Given the description of an element on the screen output the (x, y) to click on. 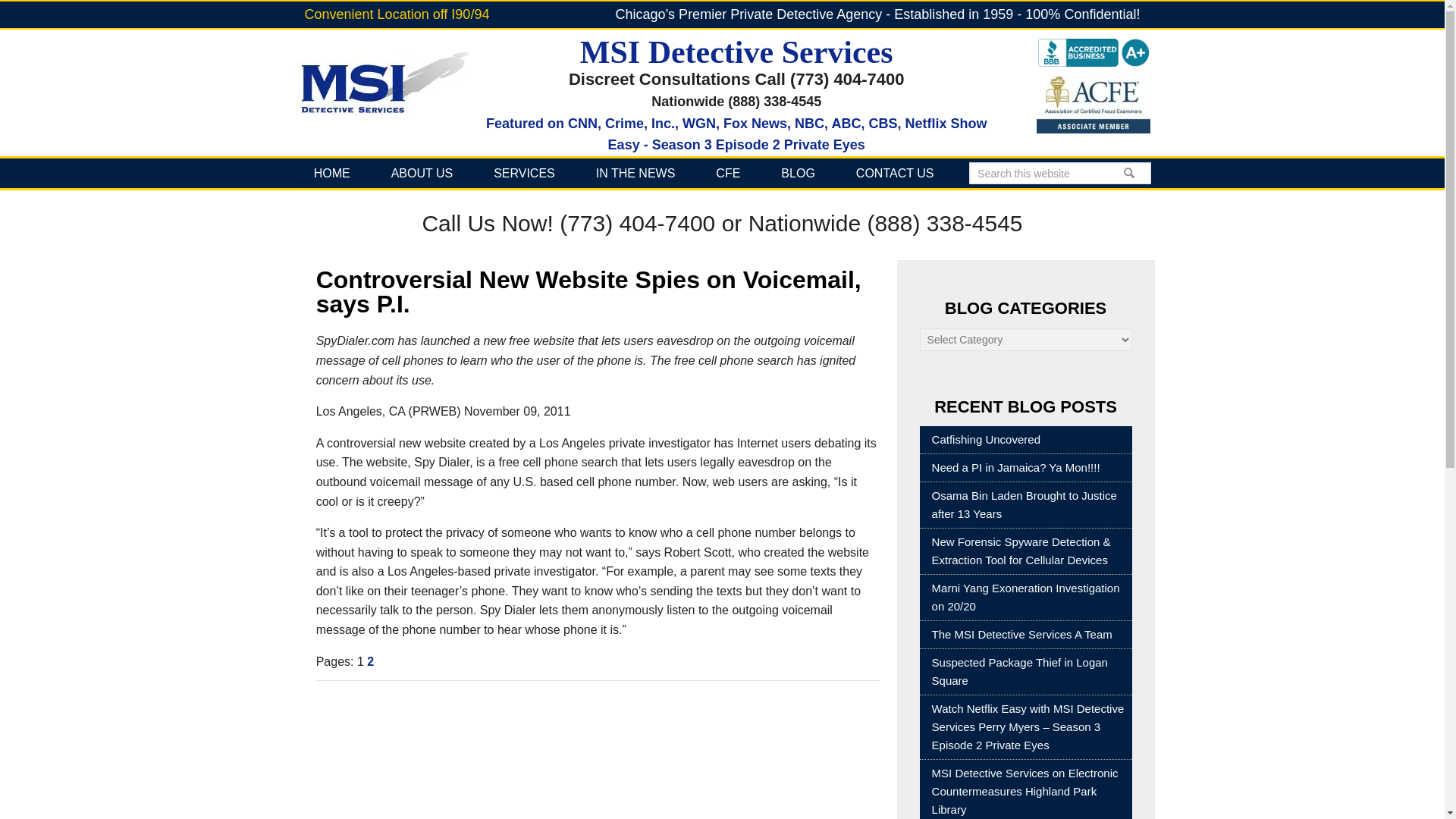
IN THE NEWS (635, 173)
BLOG (797, 173)
HOME (332, 173)
SERVICES (524, 173)
CONTACT US (895, 173)
